Given the description of an element on the screen output the (x, y) to click on. 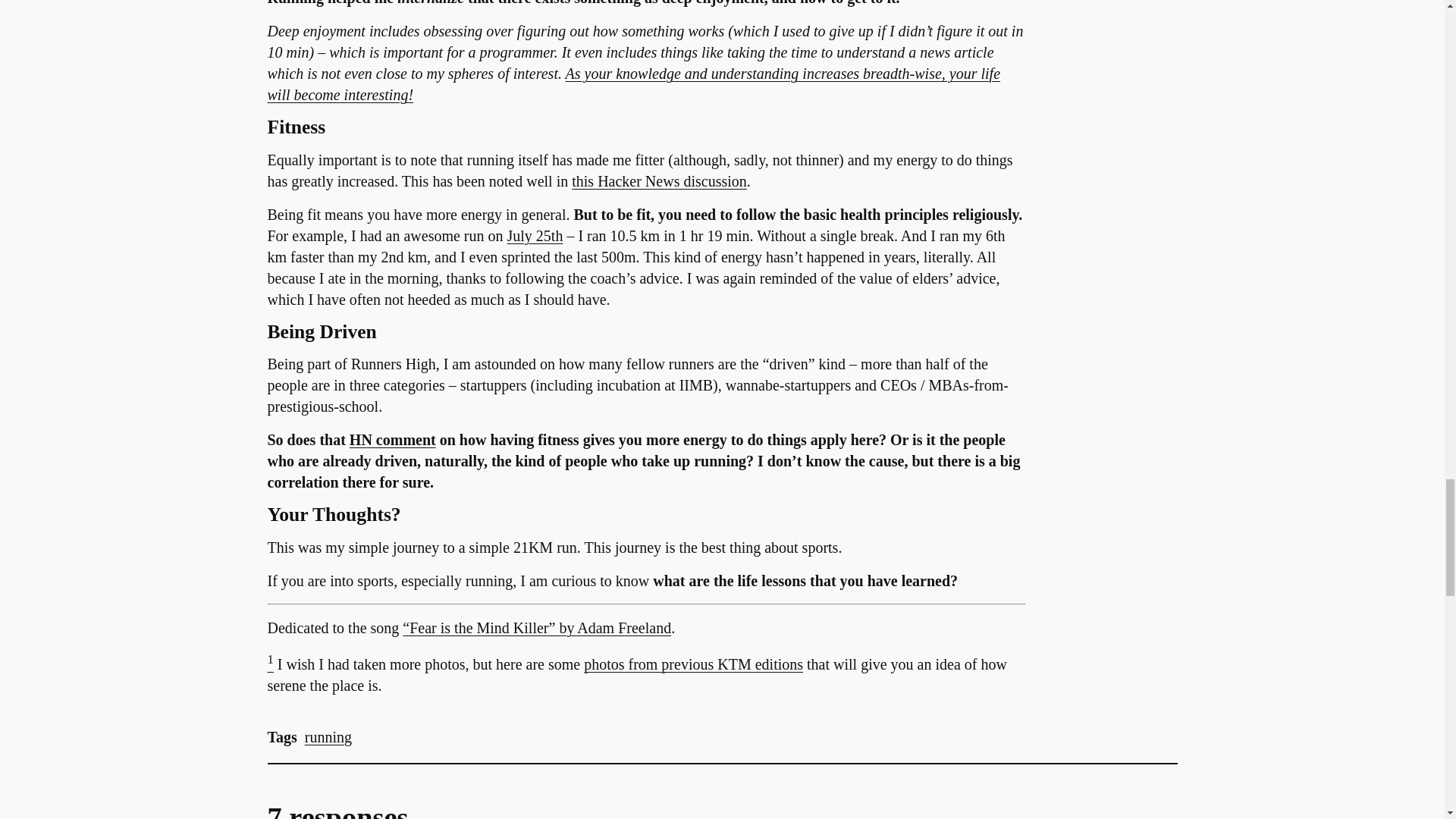
this Hacker News discussion (659, 180)
HN comment (392, 439)
running (328, 736)
photos from previous KTM editions (693, 664)
July 25th (534, 235)
